Given the description of an element on the screen output the (x, y) to click on. 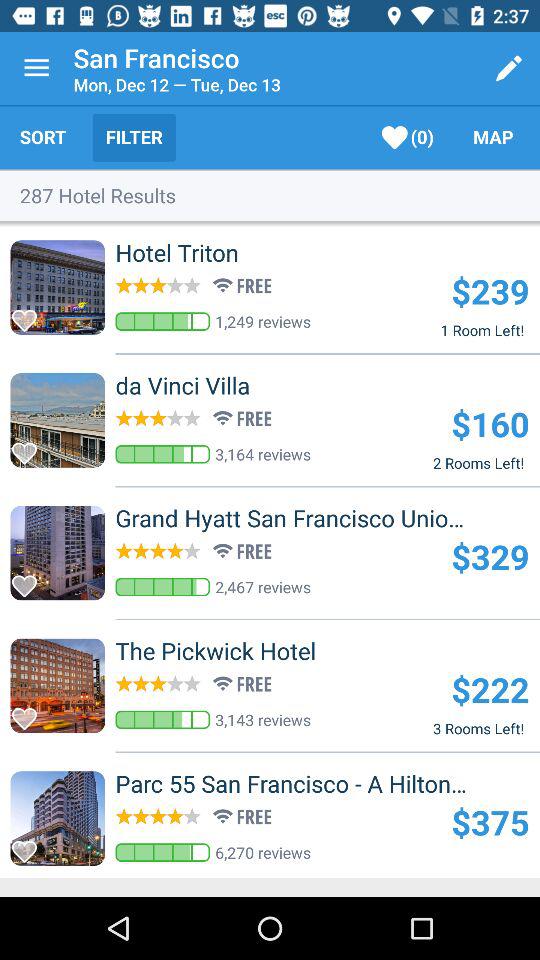
flip to map icon (493, 137)
